Given the description of an element on the screen output the (x, y) to click on. 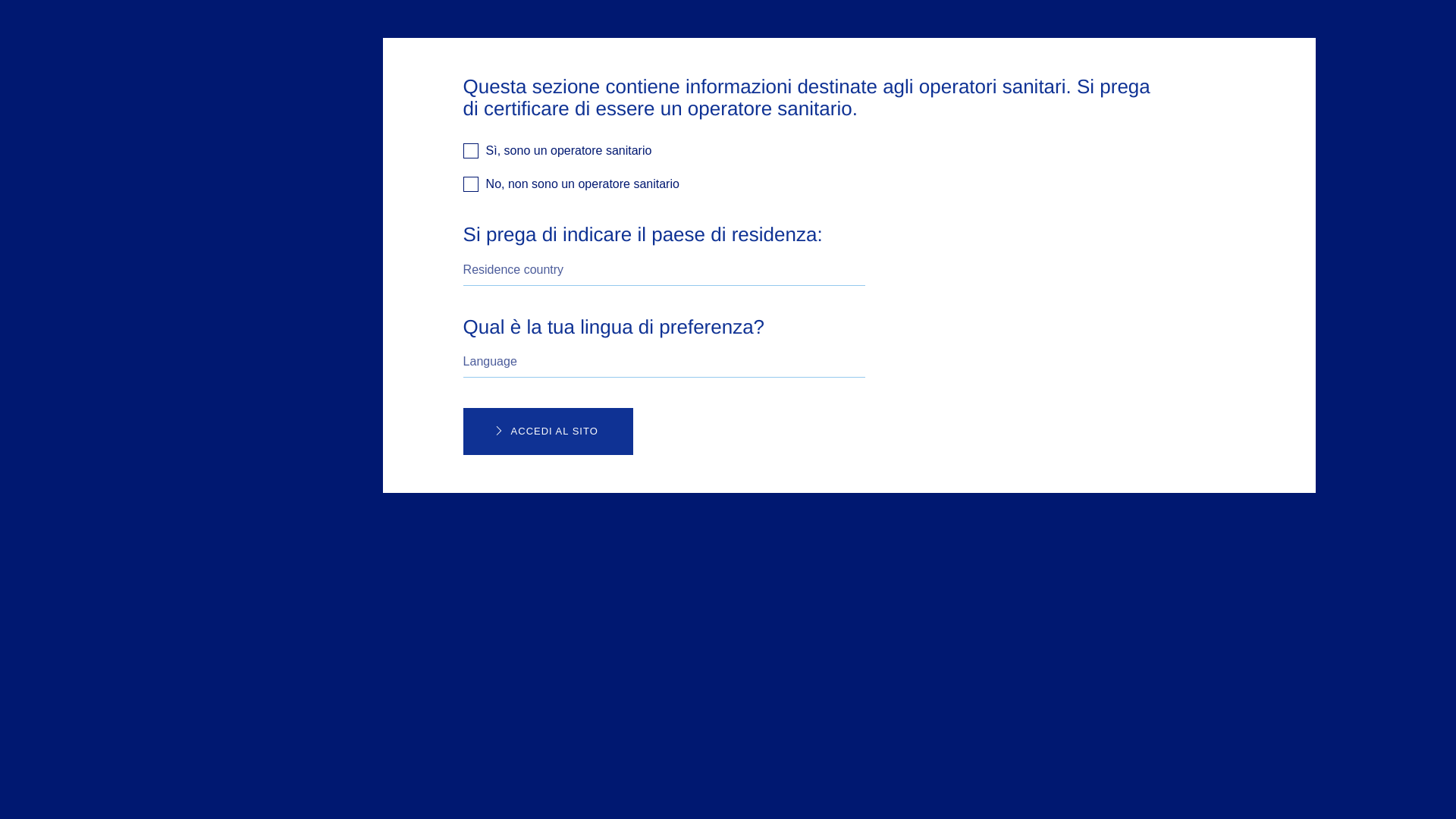
Tecnologie (865, 69)
Soluzioni (937, 69)
Sebia (1054, 69)
Patologie (793, 69)
Risorse (1000, 69)
Extranet (1126, 69)
ACCEDI AL SITO (548, 431)
